Given the description of an element on the screen output the (x, y) to click on. 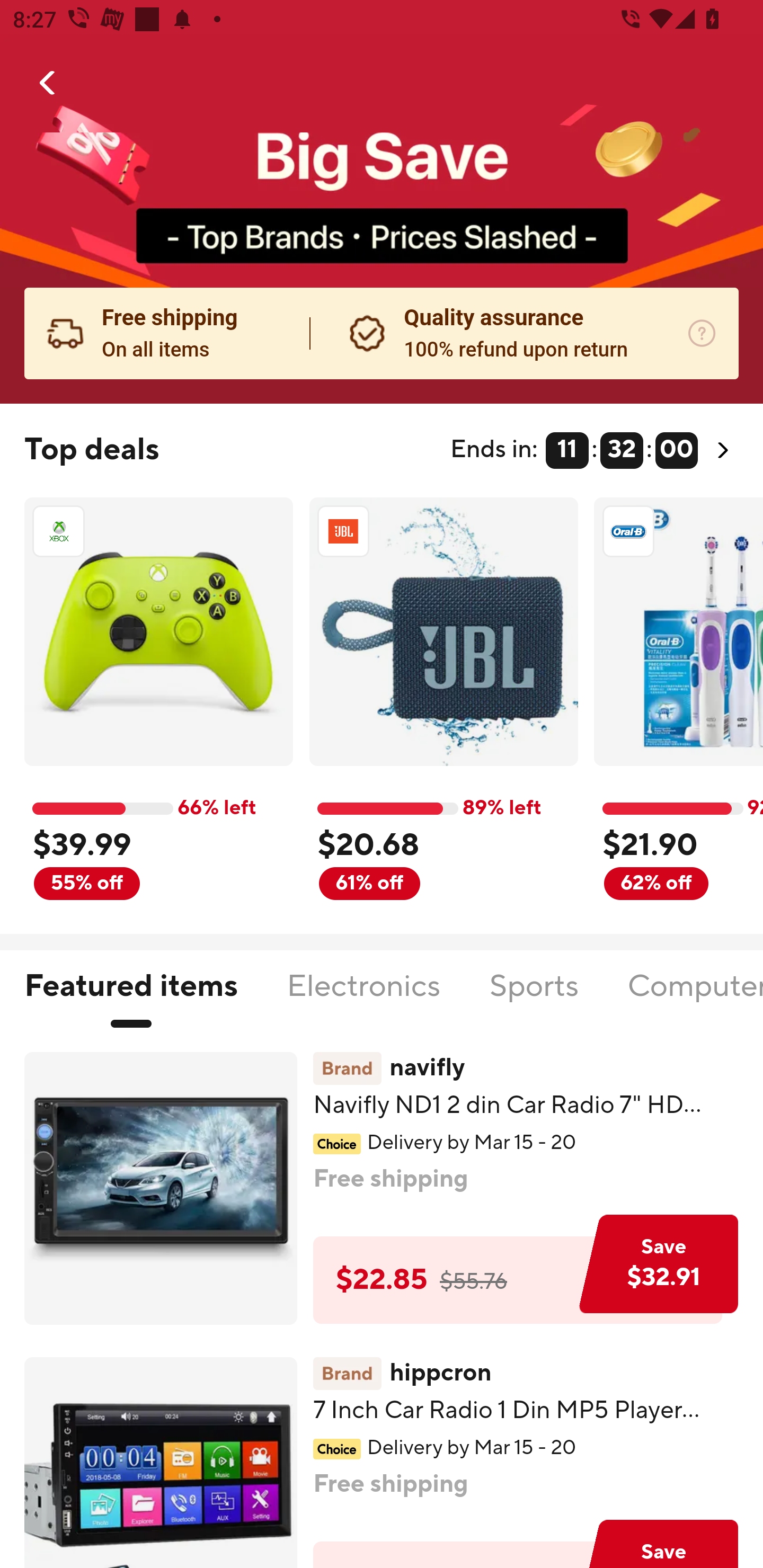
 (48, 82)
Featured items (130, 996)
Electronics (363, 996)
Sports (533, 996)
Computer & Office (694, 996)
